Given the description of an element on the screen output the (x, y) to click on. 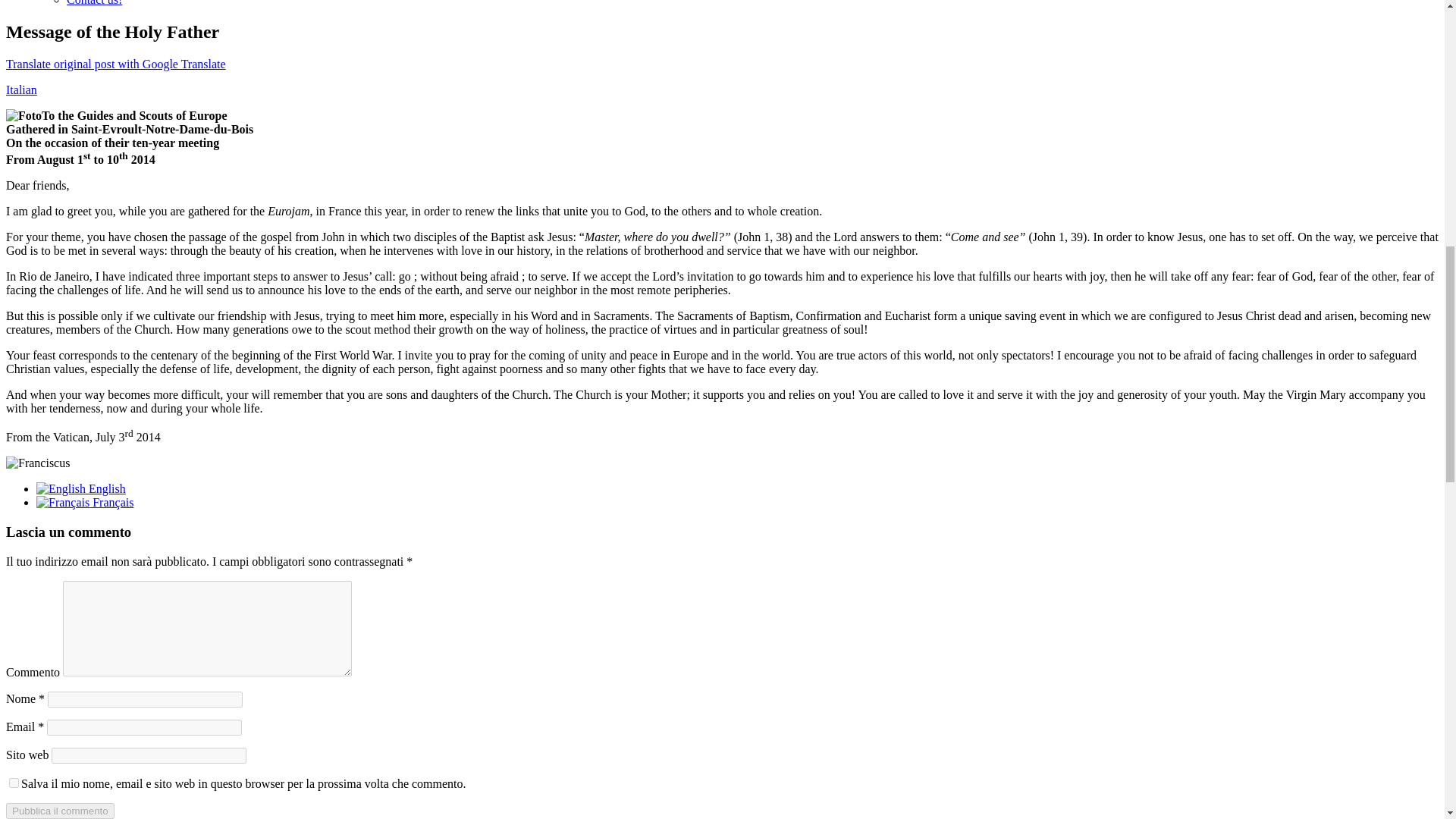
Pubblica il commento (60, 811)
yes (13, 782)
